Given the description of an element on the screen output the (x, y) to click on. 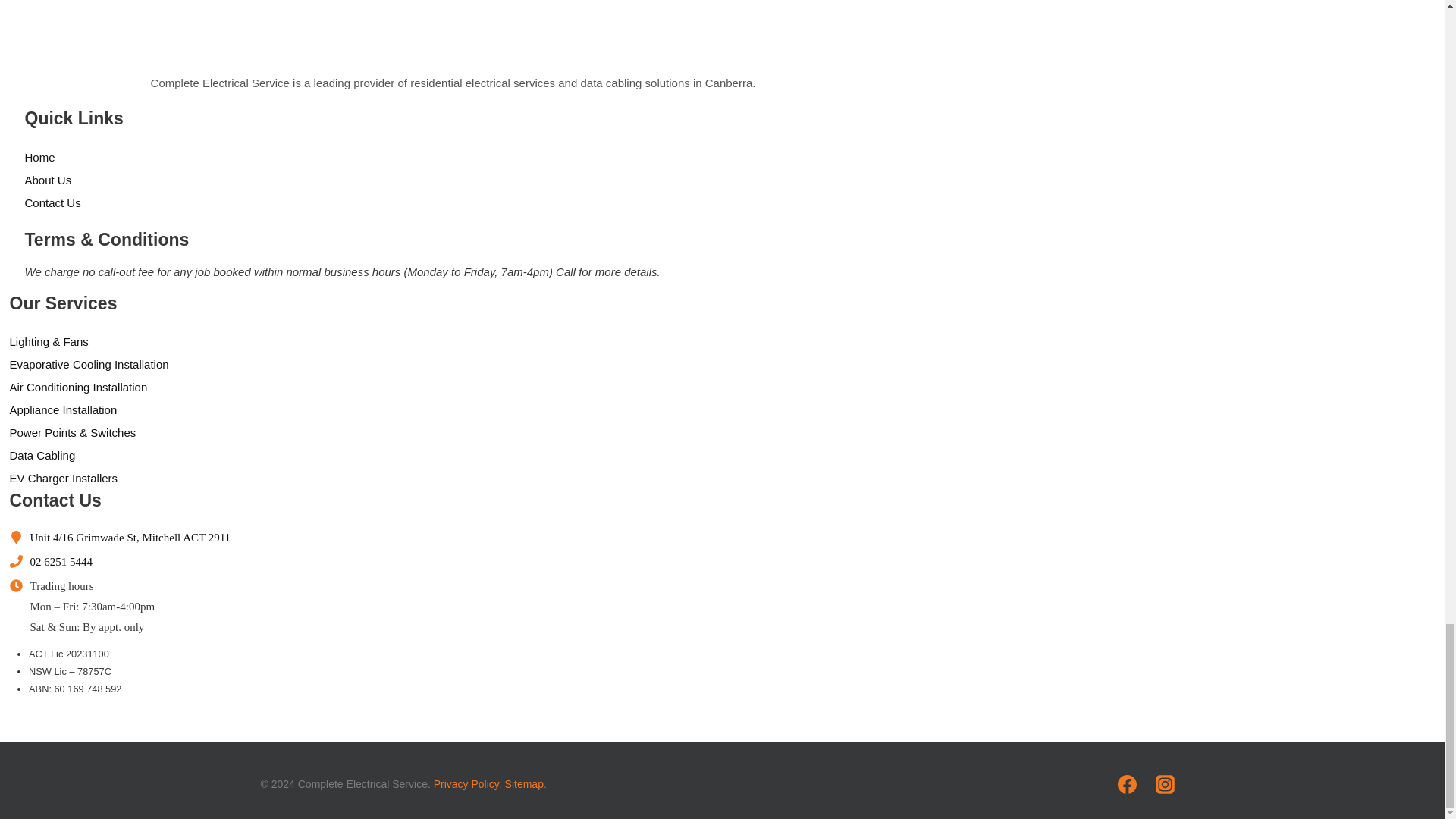
Home (475, 156)
About Us (475, 179)
Contact Us (475, 201)
Evaporative Cooling Installation (467, 363)
